Given the description of an element on the screen output the (x, y) to click on. 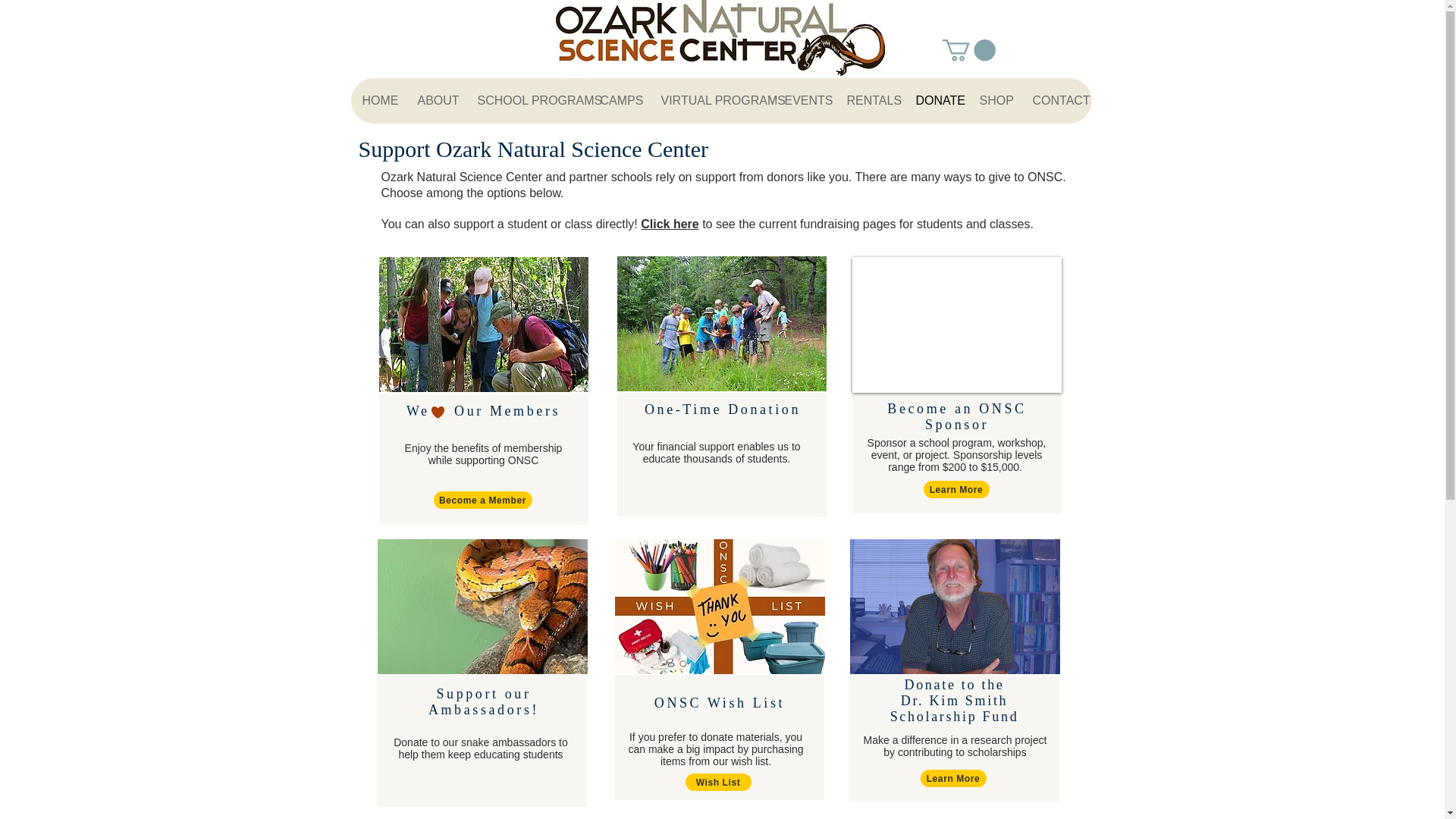
ABOUT (434, 100)
Learn More (953, 778)
Become a Member (482, 499)
SCHOOL PROGRAMS (526, 100)
DONATE (936, 100)
Click here (669, 223)
EVENTS (802, 100)
Learn More (956, 488)
SHOP (994, 100)
Wish List (718, 782)
